Given the description of an element on the screen output the (x, y) to click on. 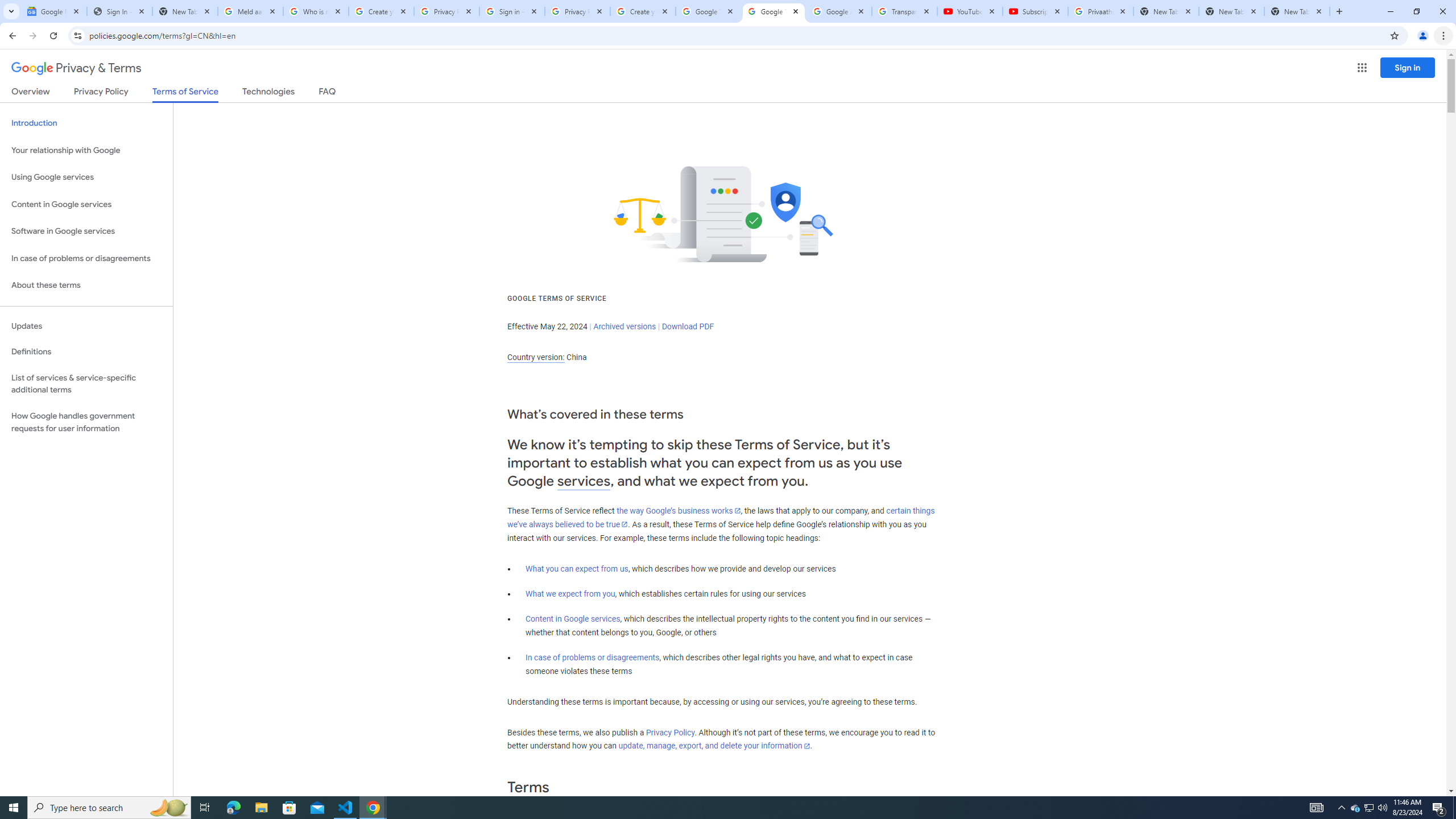
New Tab (1297, 11)
Create your Google Account (381, 11)
Using Google services (86, 176)
YouTube (969, 11)
Archived versions (624, 326)
update, manage, export, and delete your information (714, 746)
What you can expect from us (576, 568)
Introduction (86, 122)
